Given the description of an element on the screen output the (x, y) to click on. 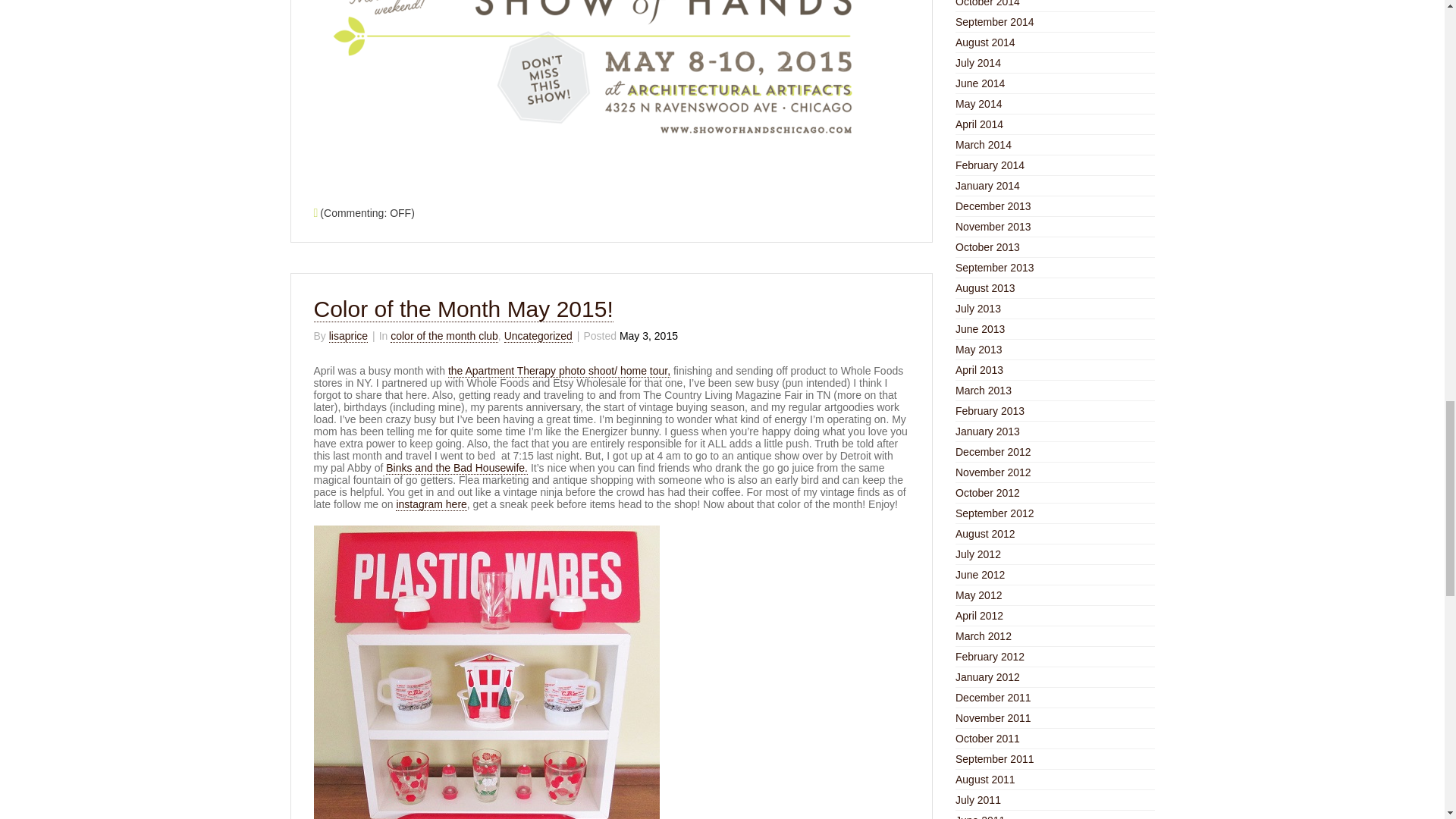
Click to read more about Color of the Month May 2015! (463, 309)
Color of the Month May 2015! (463, 309)
Binks and the Bad Housewife. (456, 468)
instagram here (430, 504)
color of the month club (443, 336)
Uncategorized (537, 336)
lisaprice (348, 336)
View all posts by lisaprice (348, 336)
